Given the description of an element on the screen output the (x, y) to click on. 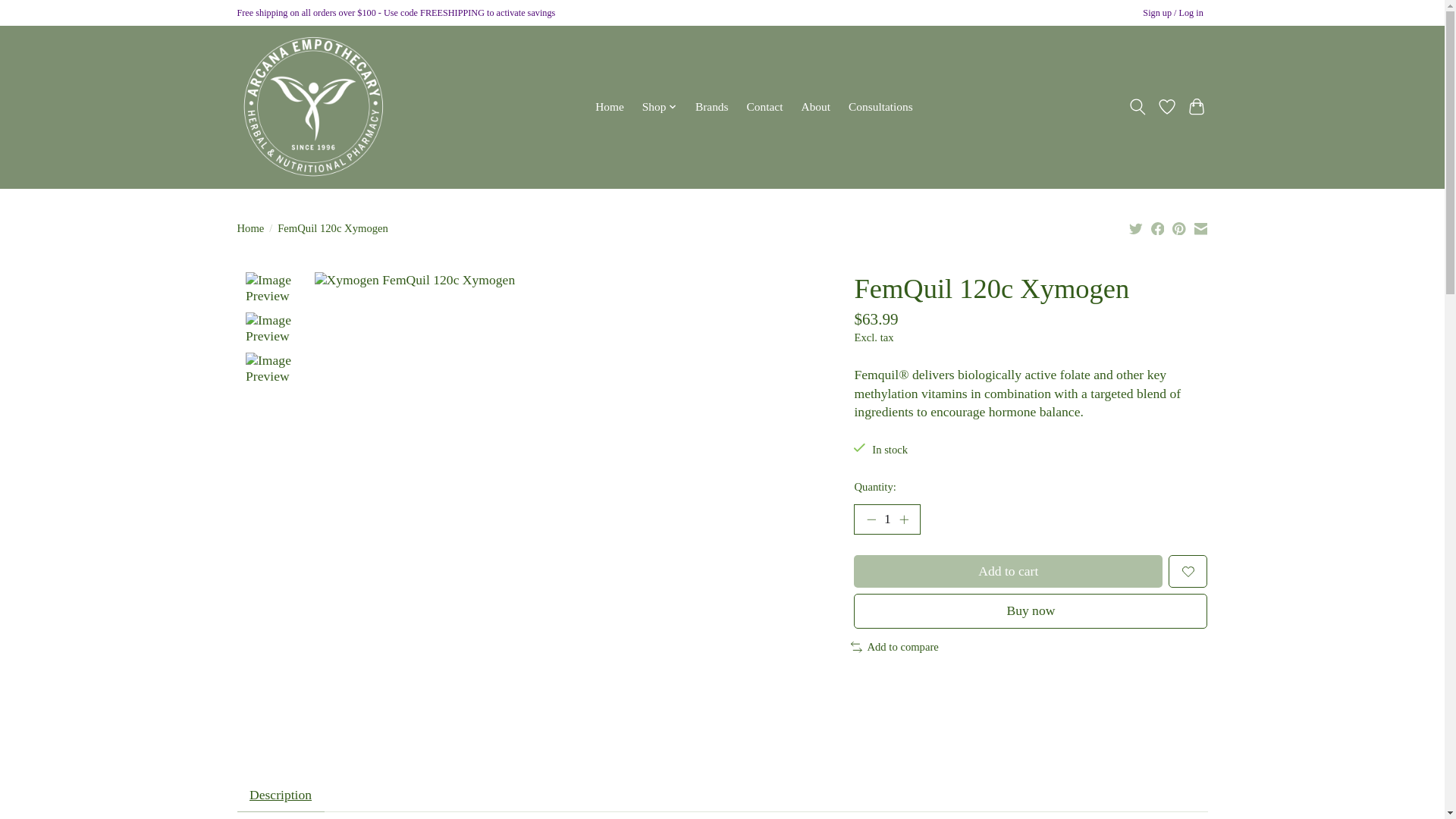
Share by Email (1200, 228)
My account (1173, 13)
Shop (659, 106)
1 (886, 519)
Share on Pinterest (1178, 228)
Share on Twitter (1135, 228)
Arcana Herbal and Nutritional Pharmacy (311, 106)
Share on Facebook (1157, 228)
Home (608, 106)
